Given the description of an element on the screen output the (x, y) to click on. 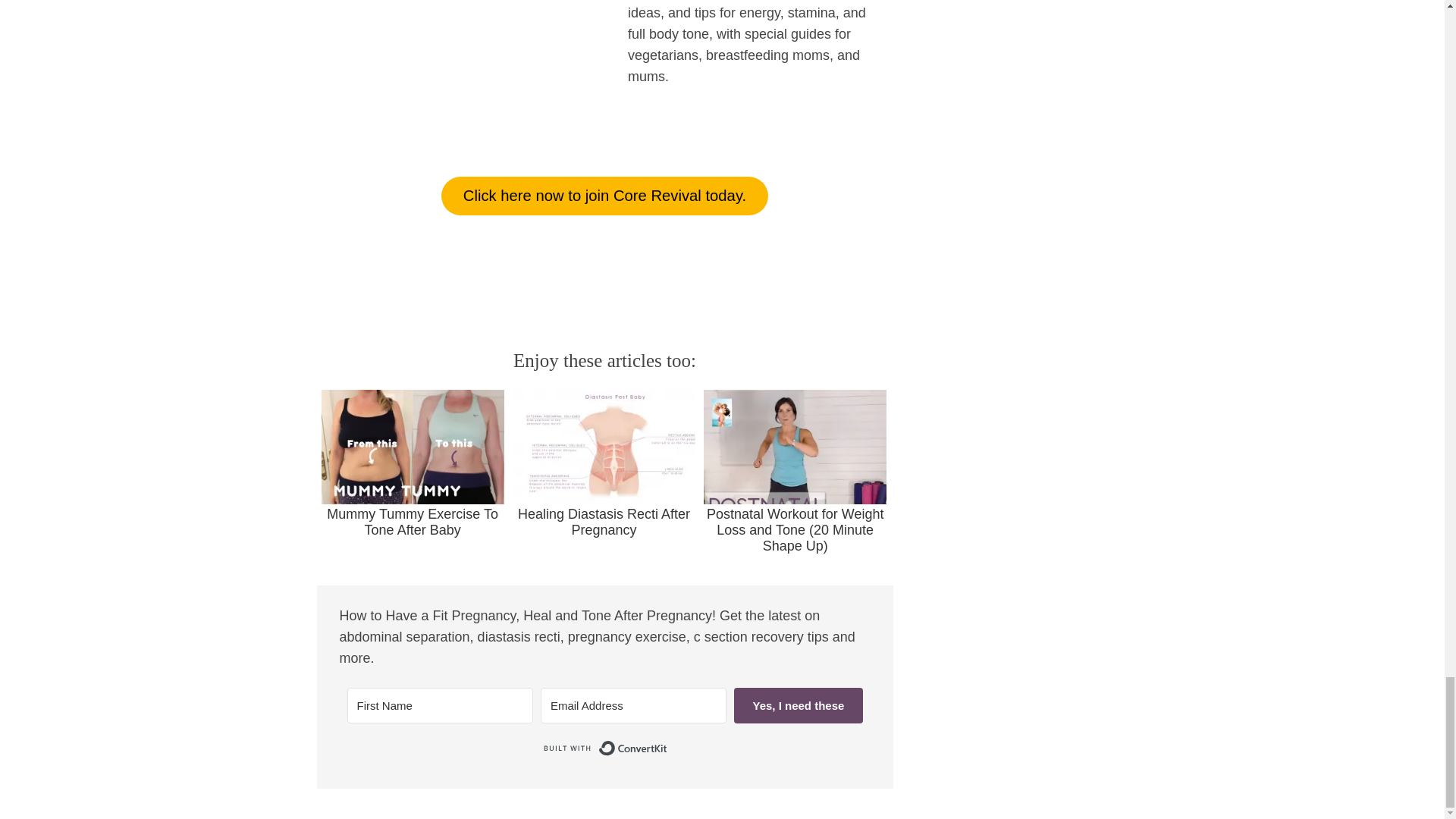
Yes, I need these (797, 705)
Healing Diastasis Recti After Pregnancy (604, 463)
Mummy Tummy Exercise To Tone After Baby (412, 463)
Click here now to join Core Revival today. (604, 195)
Built with ConvertKit (603, 748)
